Given the description of an element on the screen output the (x, y) to click on. 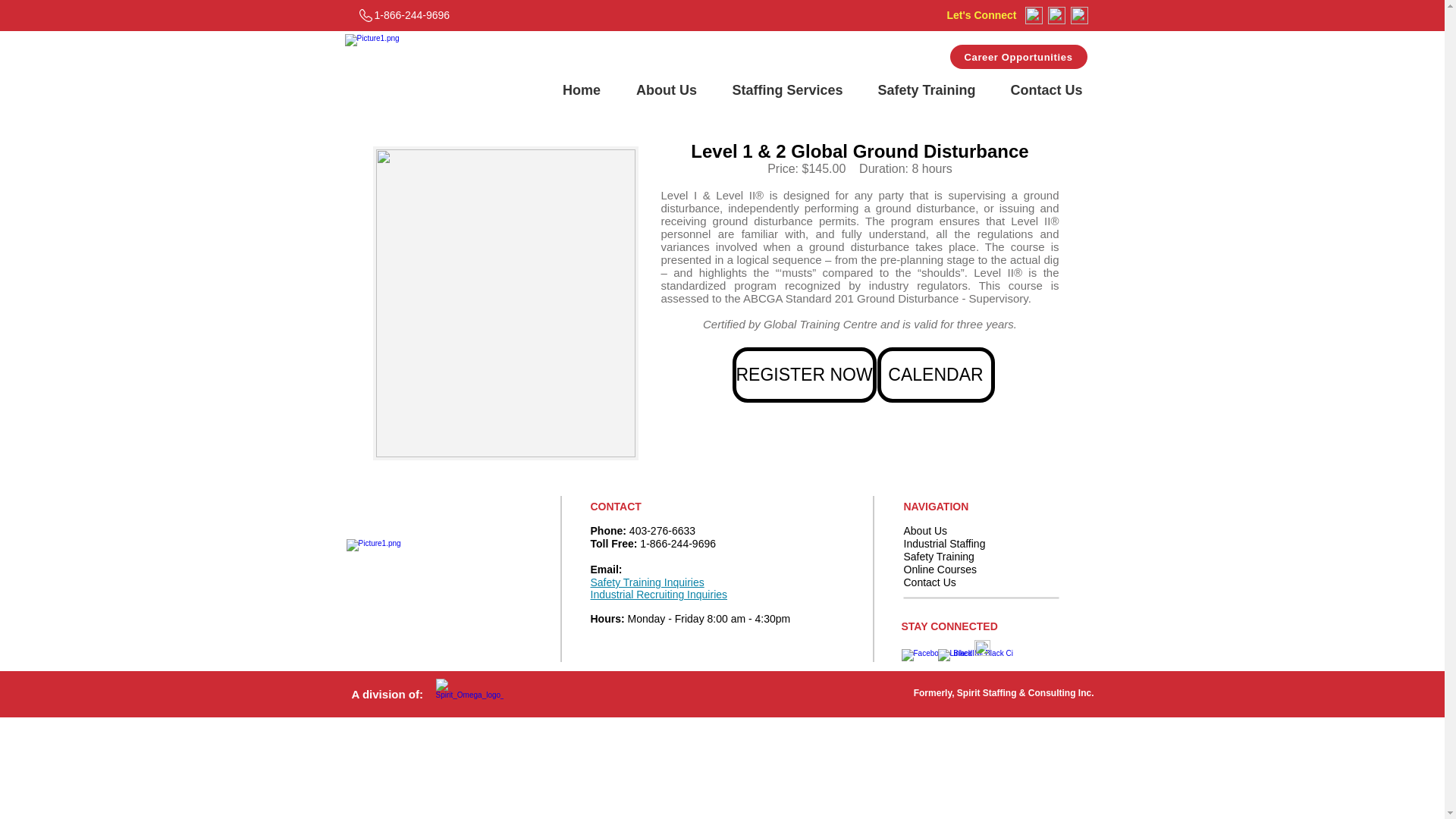
About Us (666, 89)
REGISTER NOW (804, 374)
Home (580, 89)
About Us (925, 531)
Industrial Recruiting Inquiries (657, 594)
Industrial Staffing (944, 543)
Career Opportunities (1017, 56)
Safety Training (926, 89)
Online Courses (940, 569)
CALENDAR (935, 374)
